Given the description of an element on the screen output the (x, y) to click on. 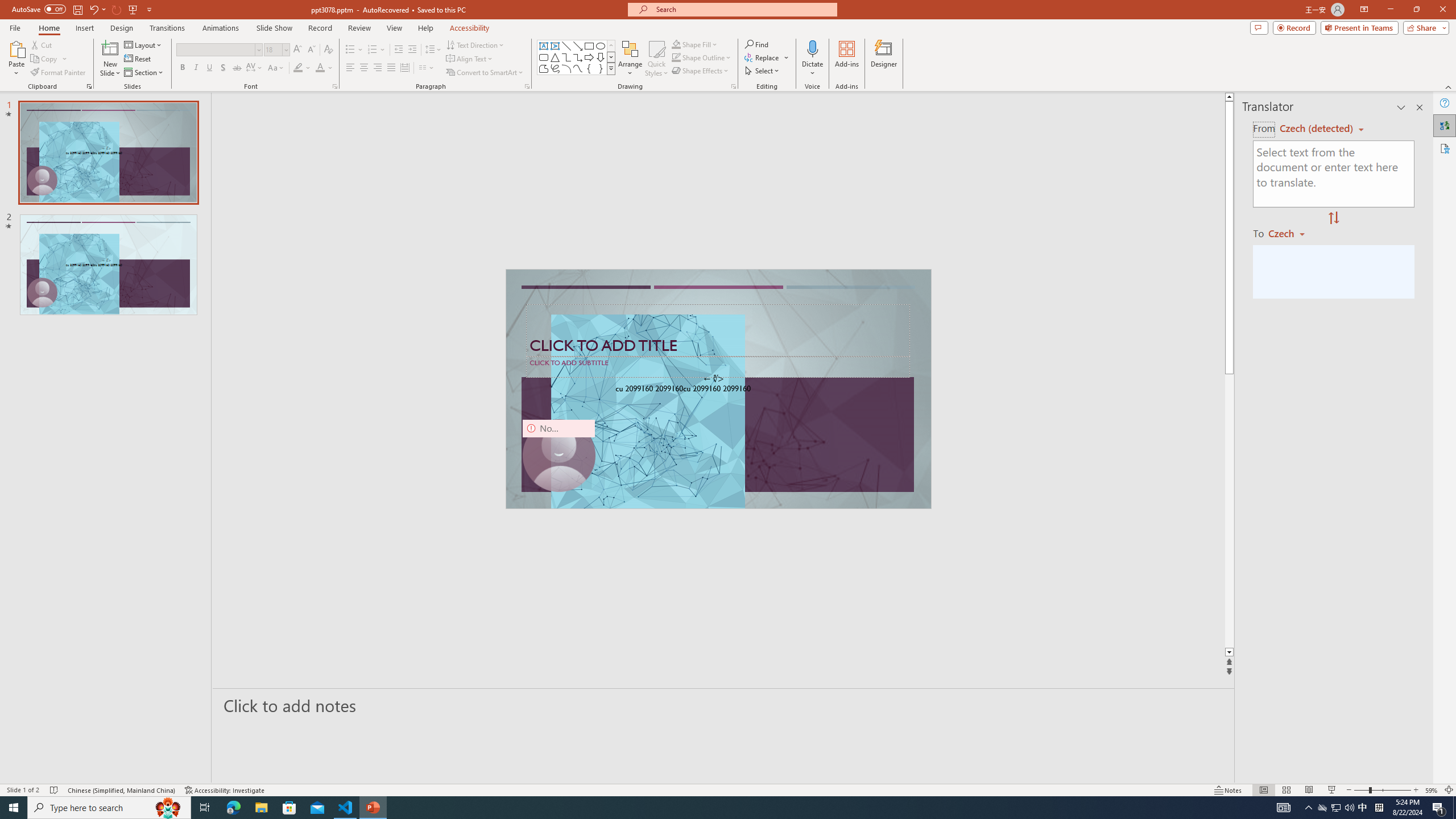
Shape Fill Dark Green, Accent 2 (675, 44)
